Given the description of an element on the screen output the (x, y) to click on. 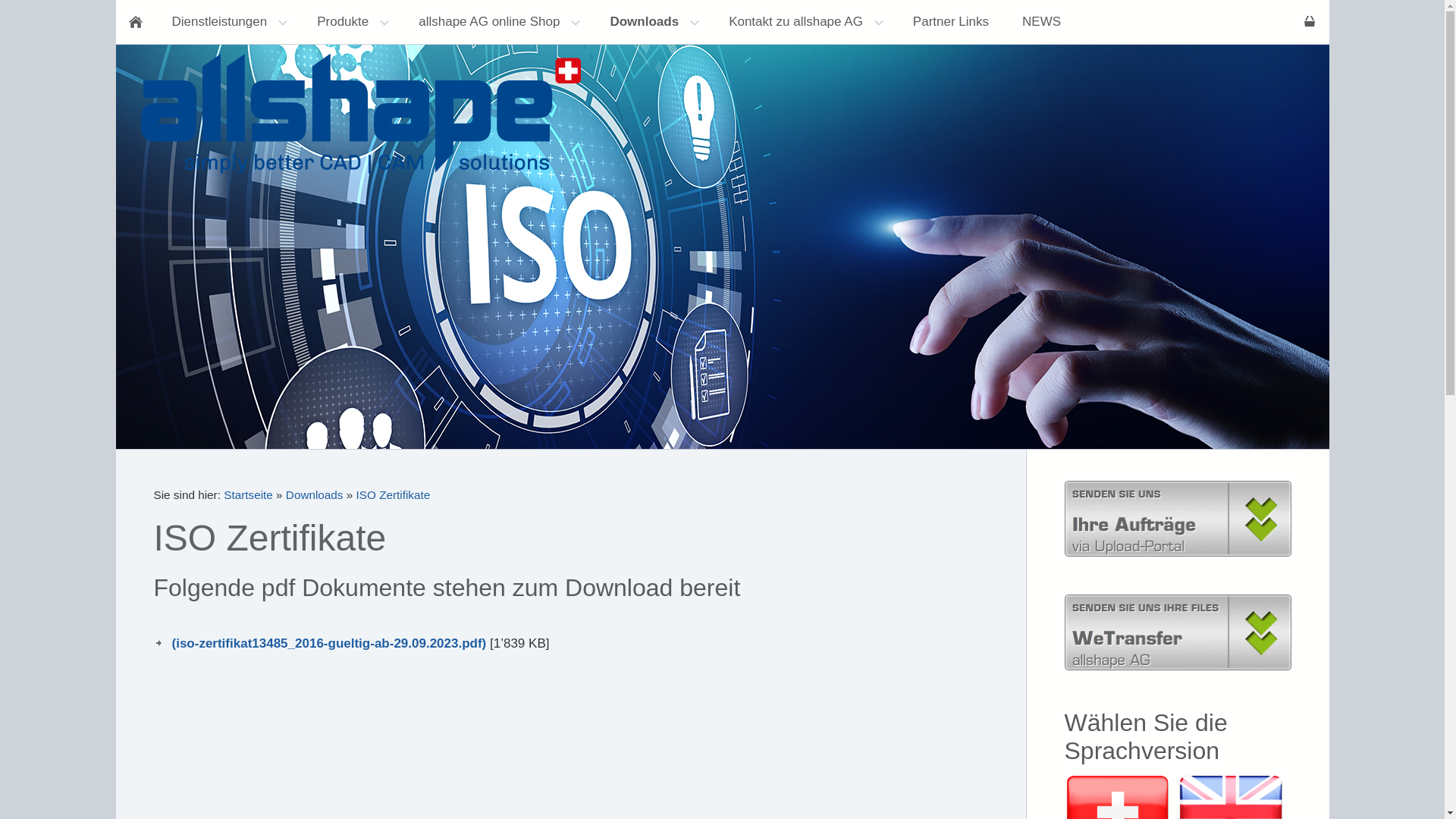
Dienstleistungen Element type: text (227, 21)
NEWS Element type: text (1041, 21)
allshape AG online Shop Element type: text (497, 21)
Downloads Element type: text (314, 494)
Downloads Element type: text (652, 21)
Partner Links Element type: text (950, 21)
Produkte Element type: text (350, 21)
Kontakt zu allshape AG Element type: text (804, 21)
ISO Zertifikate Element type: text (393, 494)
Startseite Element type: text (248, 494)
(iso-zertifikat13485_2016-gueltig-ab-29.09.2023.pdf) Element type: text (328, 643)
